Given the description of an element on the screen output the (x, y) to click on. 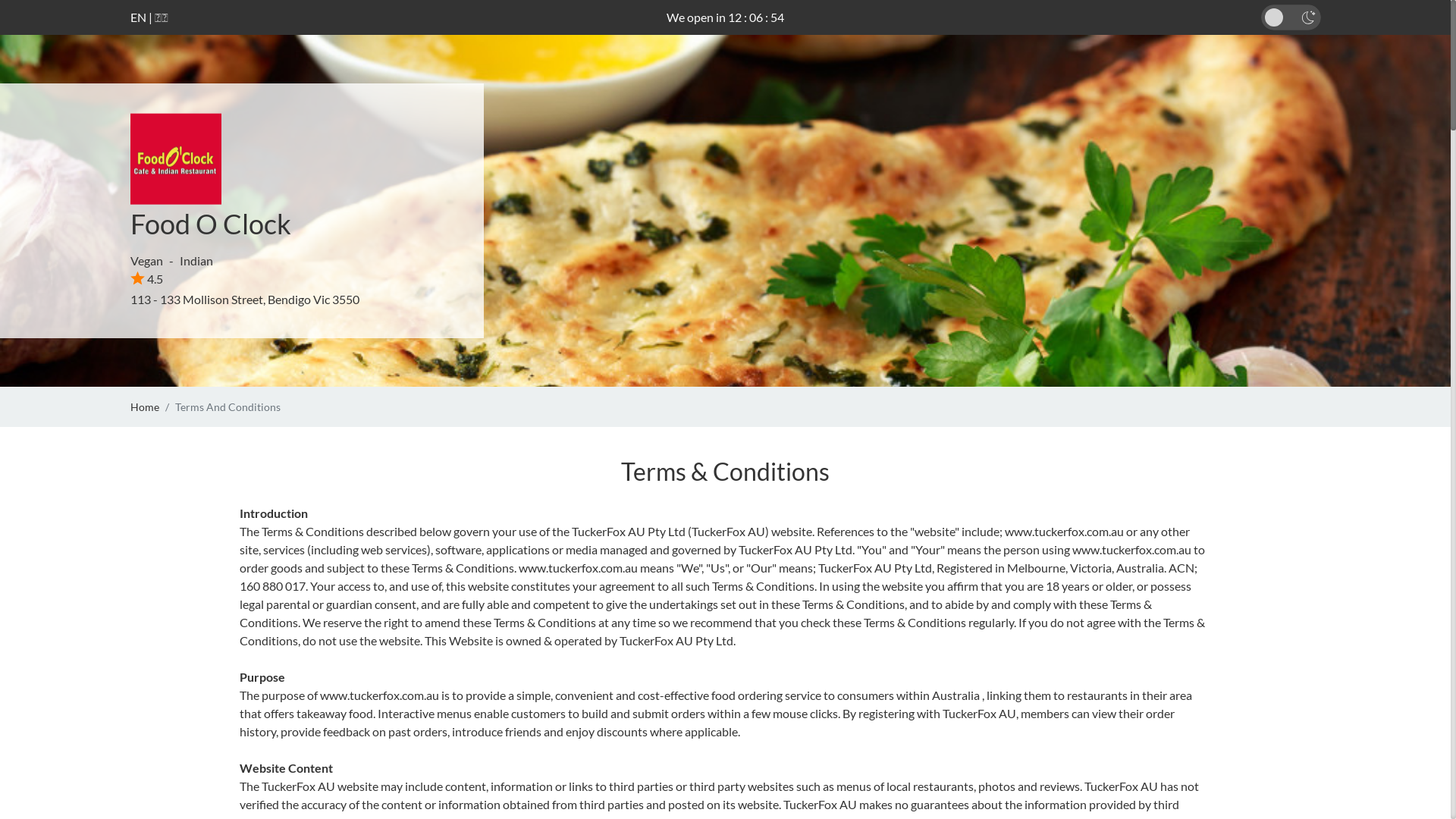
Food O Clock Element type: text (210, 223)
EN Element type: text (138, 16)
Home Element type: text (144, 406)
4.5 Element type: text (146, 278)
